Given the description of an element on the screen output the (x, y) to click on. 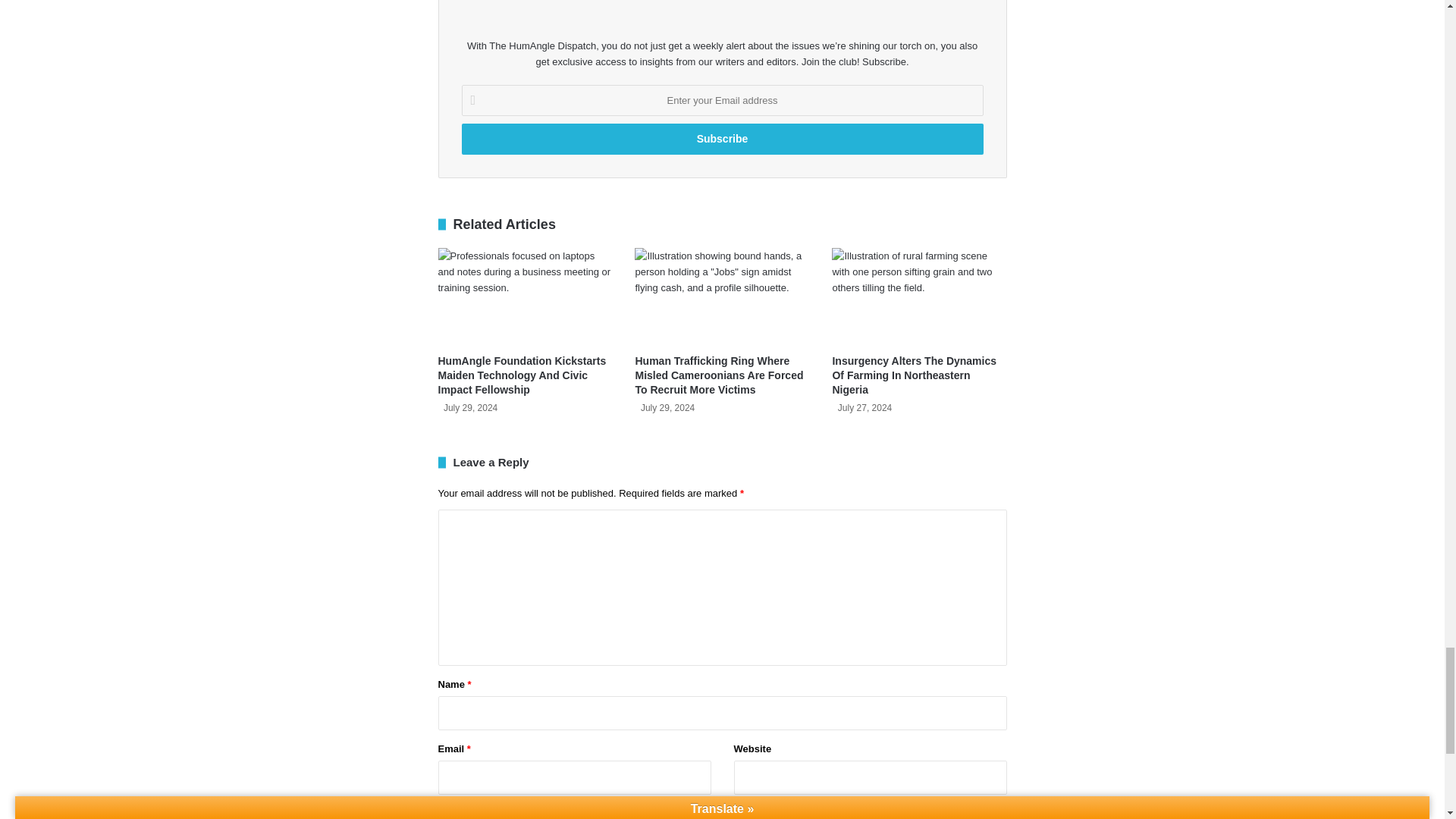
yes (443, 811)
Subscribe (721, 138)
